Given the description of an element on the screen output the (x, y) to click on. 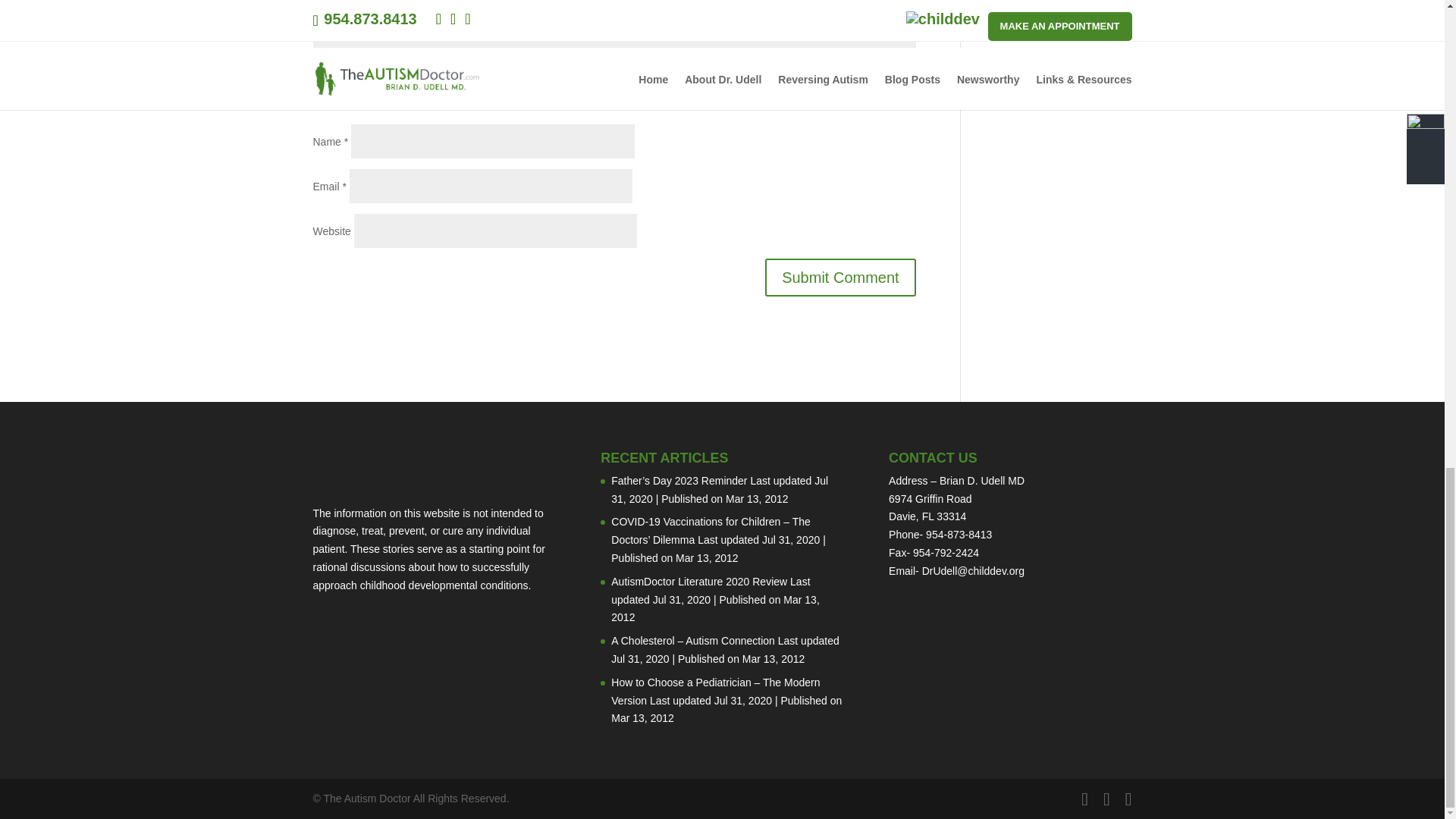
AutismDoctor Literature 2020 Review (699, 581)
Submit Comment (840, 277)
Submit Comment (840, 277)
